Given the description of an element on the screen output the (x, y) to click on. 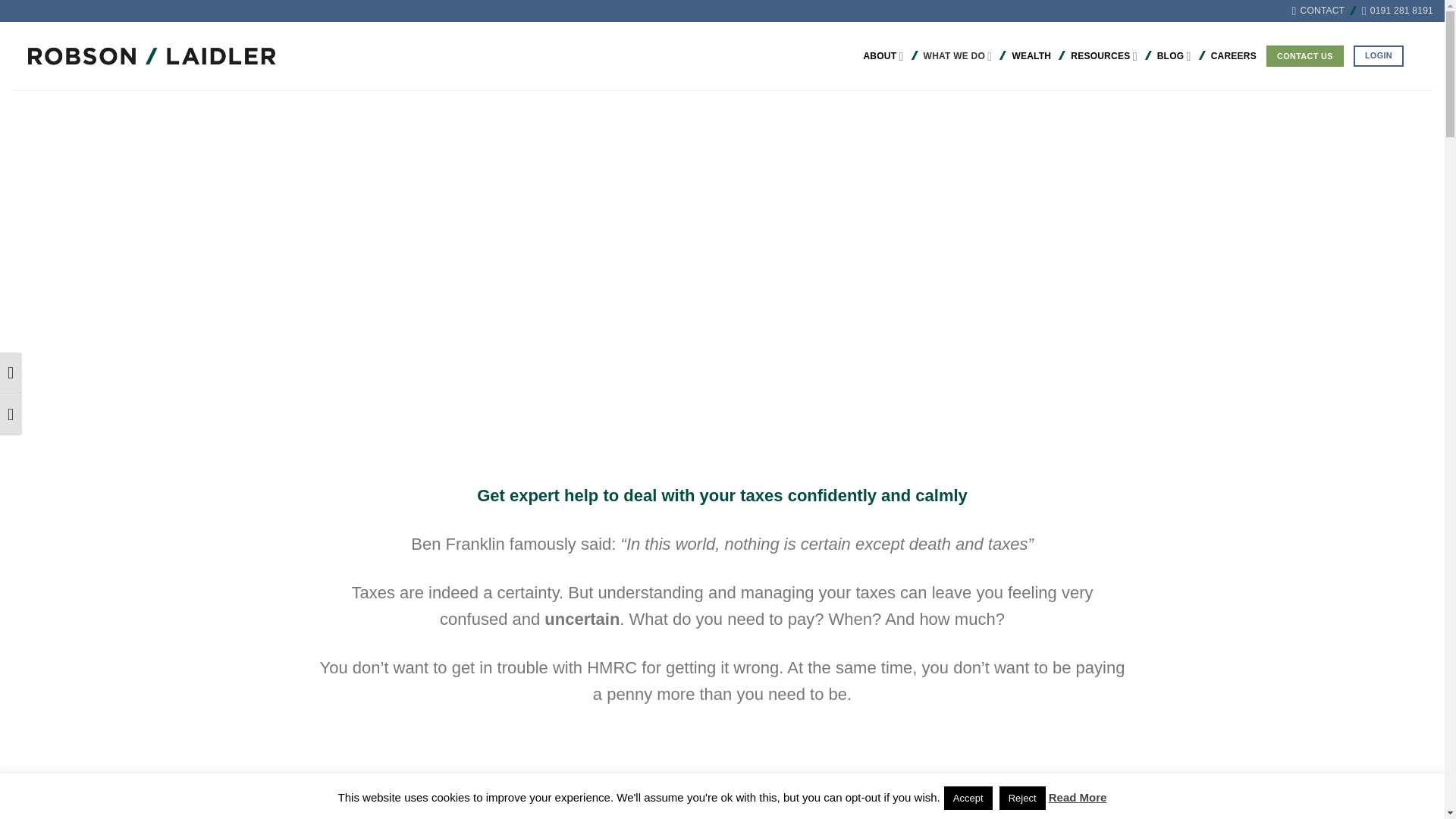
ABOUT (882, 56)
CONTACT US (1304, 55)
0191 281 8191 (1396, 11)
WEALTH (1031, 55)
CAREERS (1233, 55)
LOGIN (1378, 55)
WHAT WE DO (957, 56)
RESOURCES (1103, 56)
BLOG (1174, 56)
Robson Laidler - Robson Laidler (137, 55)
CONTACT (1317, 11)
